Given the description of an element on the screen output the (x, y) to click on. 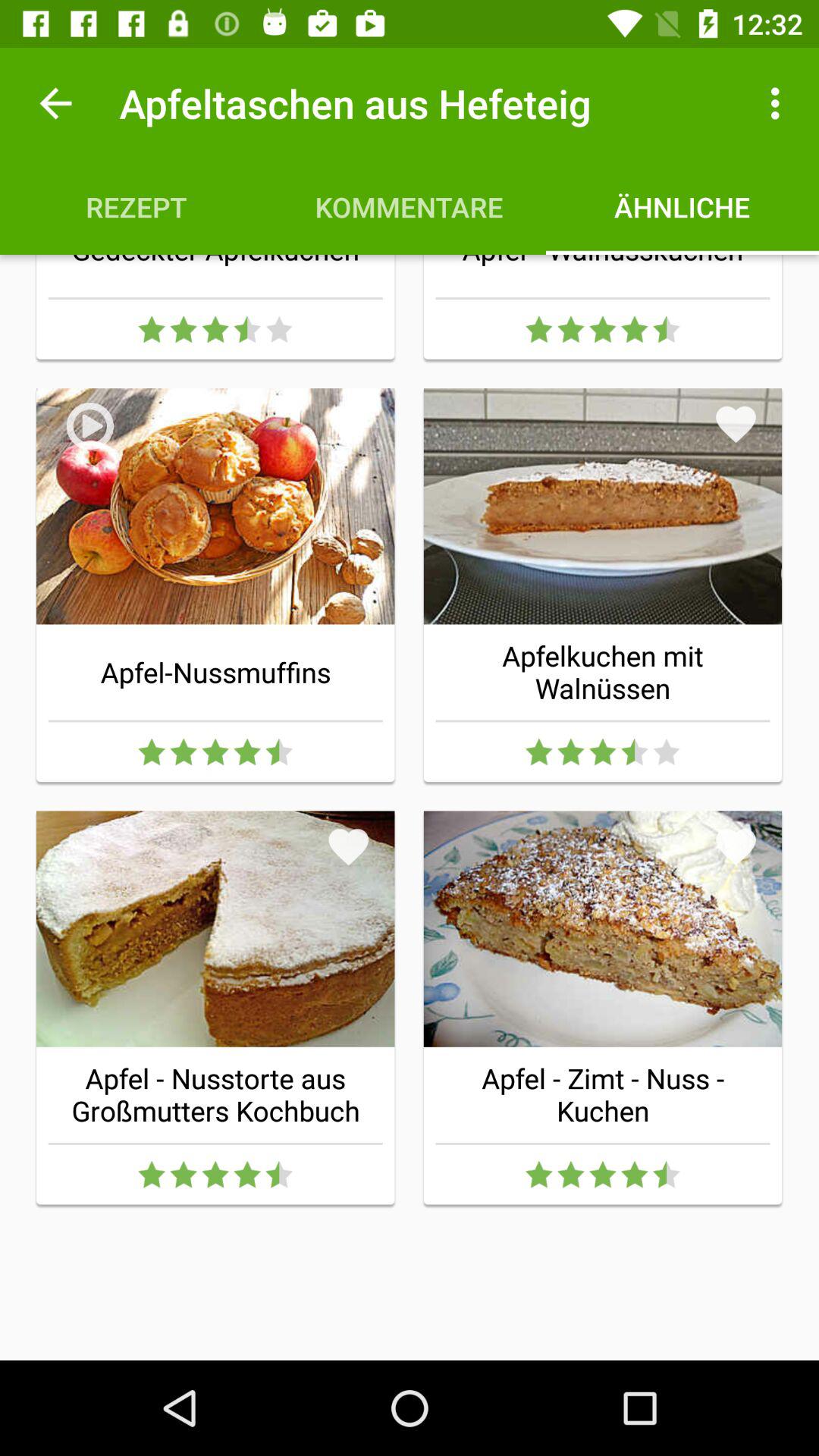
press the icon at the center (348, 846)
